Given the description of an element on the screen output the (x, y) to click on. 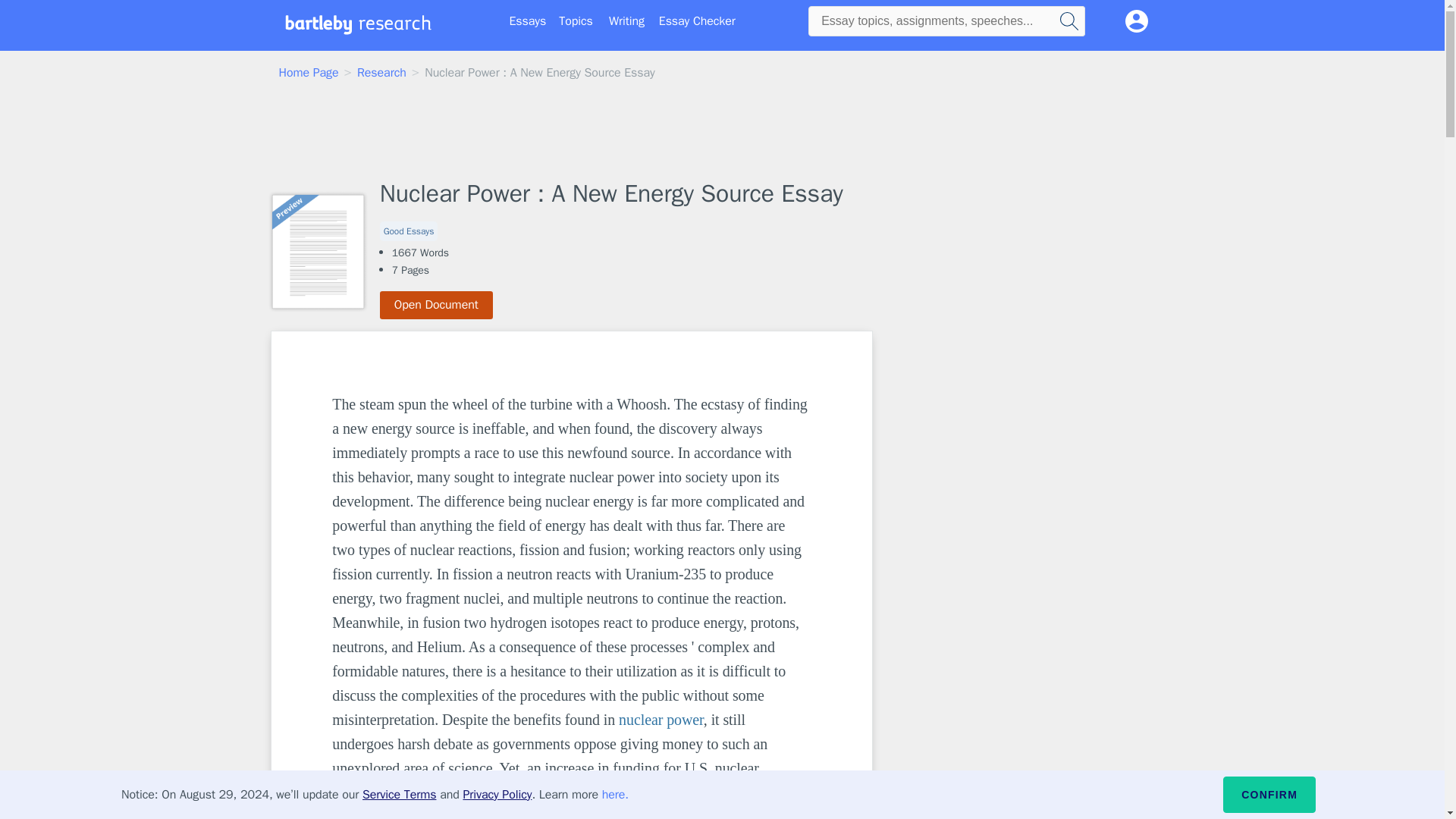
Essay Checker (697, 20)
Research (381, 72)
Essays (528, 20)
Home Page (309, 72)
Topics (575, 20)
Open Document (436, 305)
nuclear power (660, 719)
Writing (626, 20)
